Given the description of an element on the screen output the (x, y) to click on. 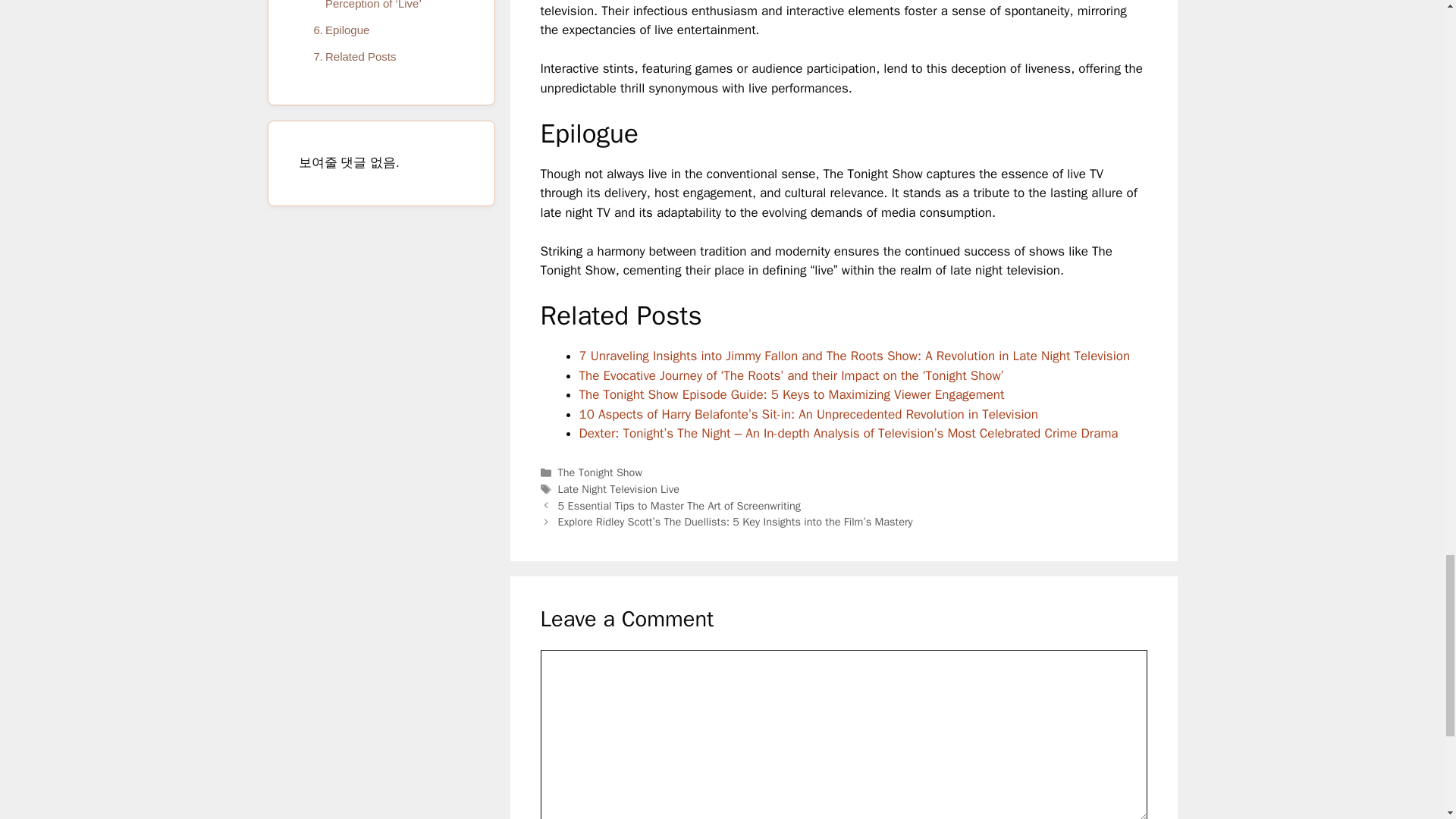
Late Night Television Live (618, 489)
Epilogue (337, 30)
Related Posts (350, 56)
5 Essential Tips to Master The Art of Screenwriting (678, 505)
The Tonight Show (599, 472)
